Given the description of an element on the screen output the (x, y) to click on. 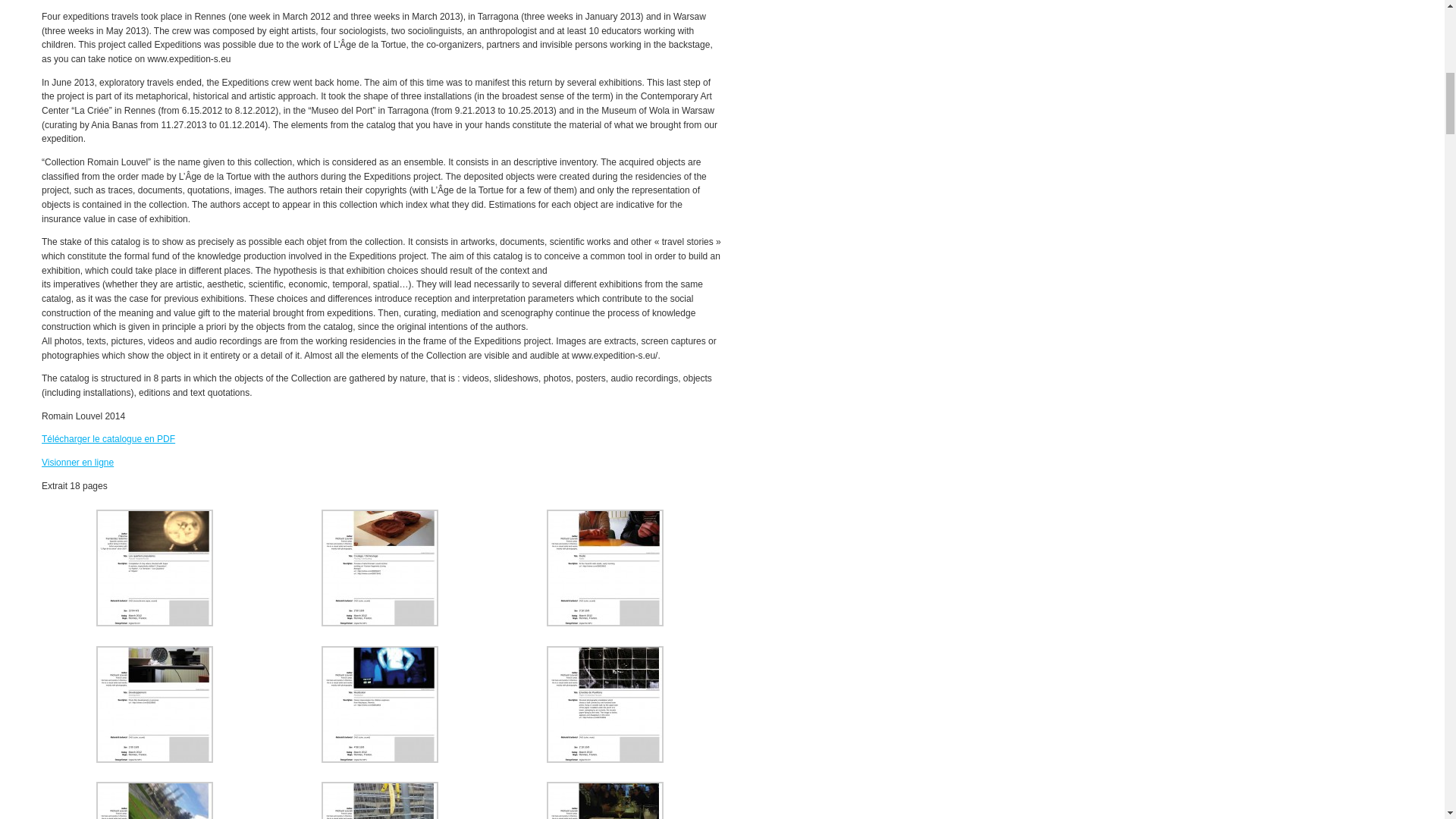
Visionner en ligne (77, 462)
